Given the description of an element on the screen output the (x, y) to click on. 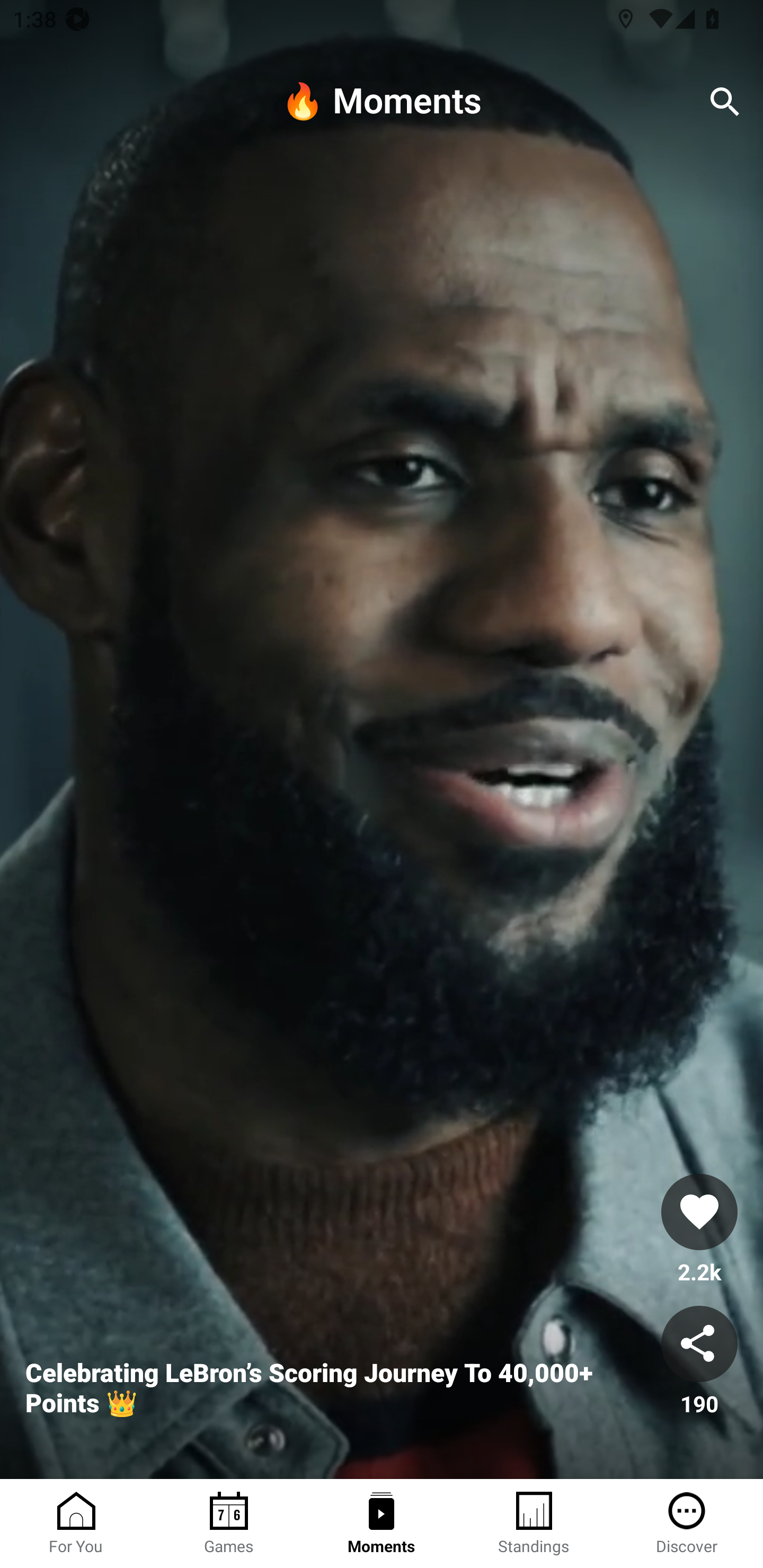
search (724, 101)
like 2.2k 2197 Likes (699, 1230)
share 190 190 Shares (699, 1362)
For You (76, 1523)
Games (228, 1523)
Standings (533, 1523)
Discover (686, 1523)
